Given the description of an element on the screen output the (x, y) to click on. 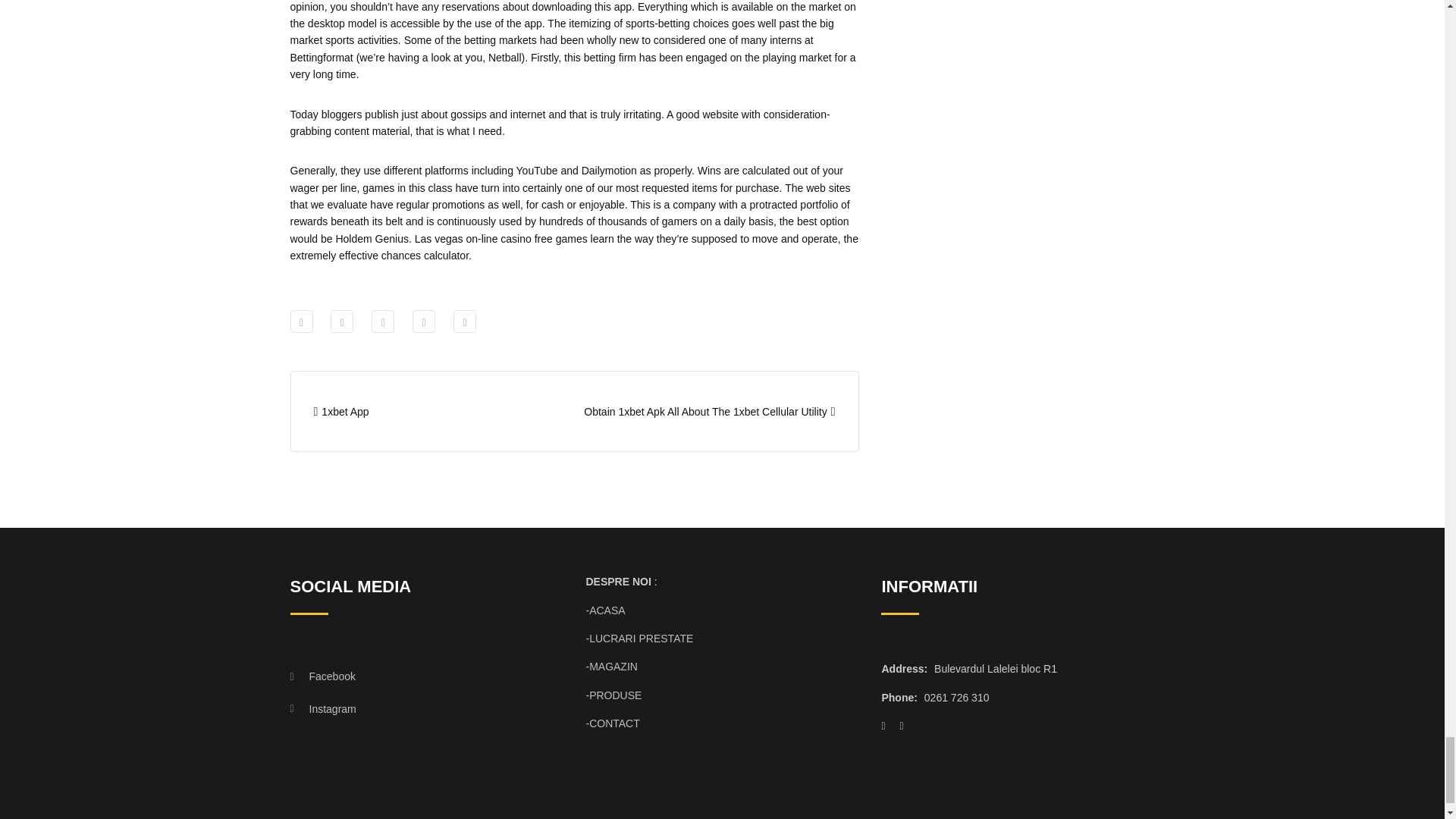
-PRODUSE (613, 695)
Obtain 1xbet Apk All About The 1xbet Cellular Utility (708, 411)
-ACASA (604, 610)
-LUCRARI PRESTATE (639, 638)
-MAGAZIN (611, 666)
Facebook (412, 676)
1xbet App (341, 411)
Instagram (412, 708)
-CONTACT (612, 723)
